Given the description of an element on the screen output the (x, y) to click on. 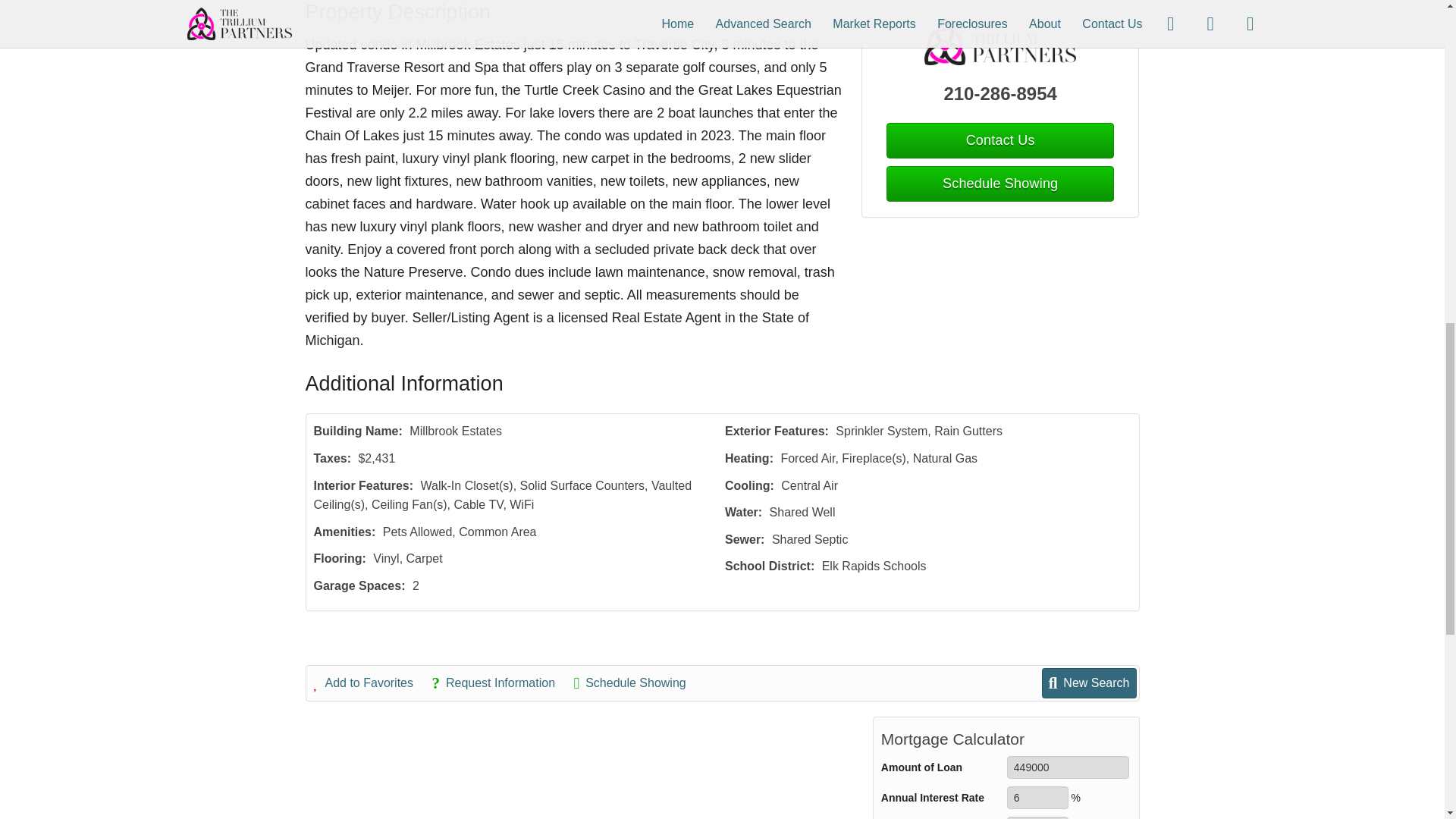
449000 (1068, 766)
Schedule Showing (999, 183)
6 (1037, 797)
Contact Us (999, 140)
30 (1037, 817)
210-286-8954 (1000, 93)
